Given the description of an element on the screen output the (x, y) to click on. 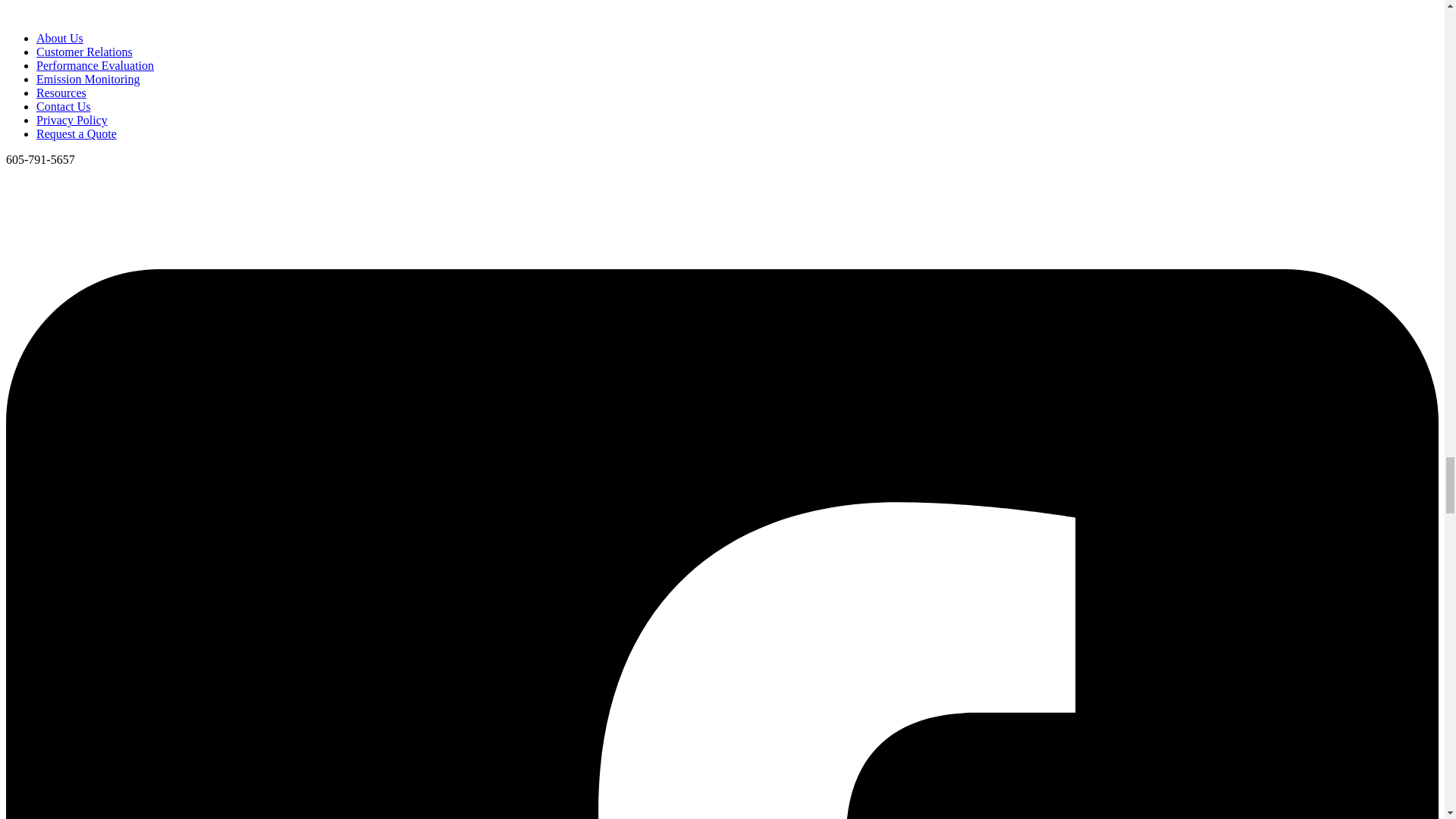
Request a Quote (76, 133)
Performance Evaluation (95, 65)
Contact Us (63, 106)
Privacy Policy (71, 119)
Emission Monitoring (87, 78)
Resources (60, 92)
About Us (59, 38)
Customer Relations (84, 51)
